Given the description of an element on the screen output the (x, y) to click on. 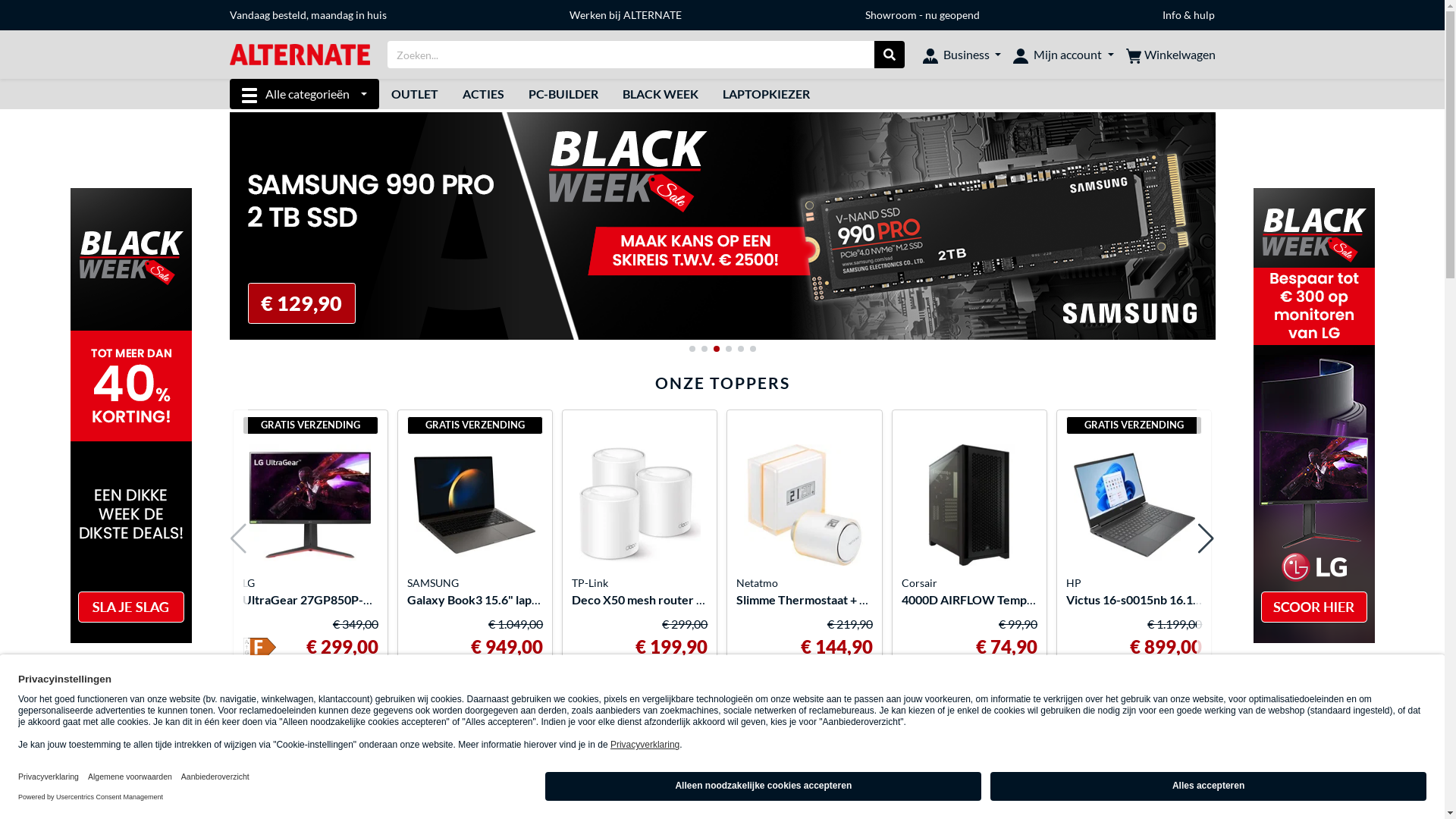
Showroom - nu geopend Element type: text (922, 14)
Business Element type: text (961, 54)
LAPTOPKIEZER Element type: text (766, 93)
Mijn account Element type: text (1063, 54)
BLACK WEEK Element type: text (660, 93)
PC-BUILDER Element type: text (563, 93)
Vandaag besteld, maandag in huis Element type: text (307, 14)
ACTIES Element type: text (483, 93)
OUTLET Element type: text (414, 93)
Info & hulp Element type: text (1188, 14)
F Element type: hover (259, 648)
Werken bij ALTERNATE Element type: text (625, 14)
Winkelwagen Element type: text (1169, 54)
Zoeken... Element type: hover (889, 54)
